Given the description of an element on the screen output the (x, y) to click on. 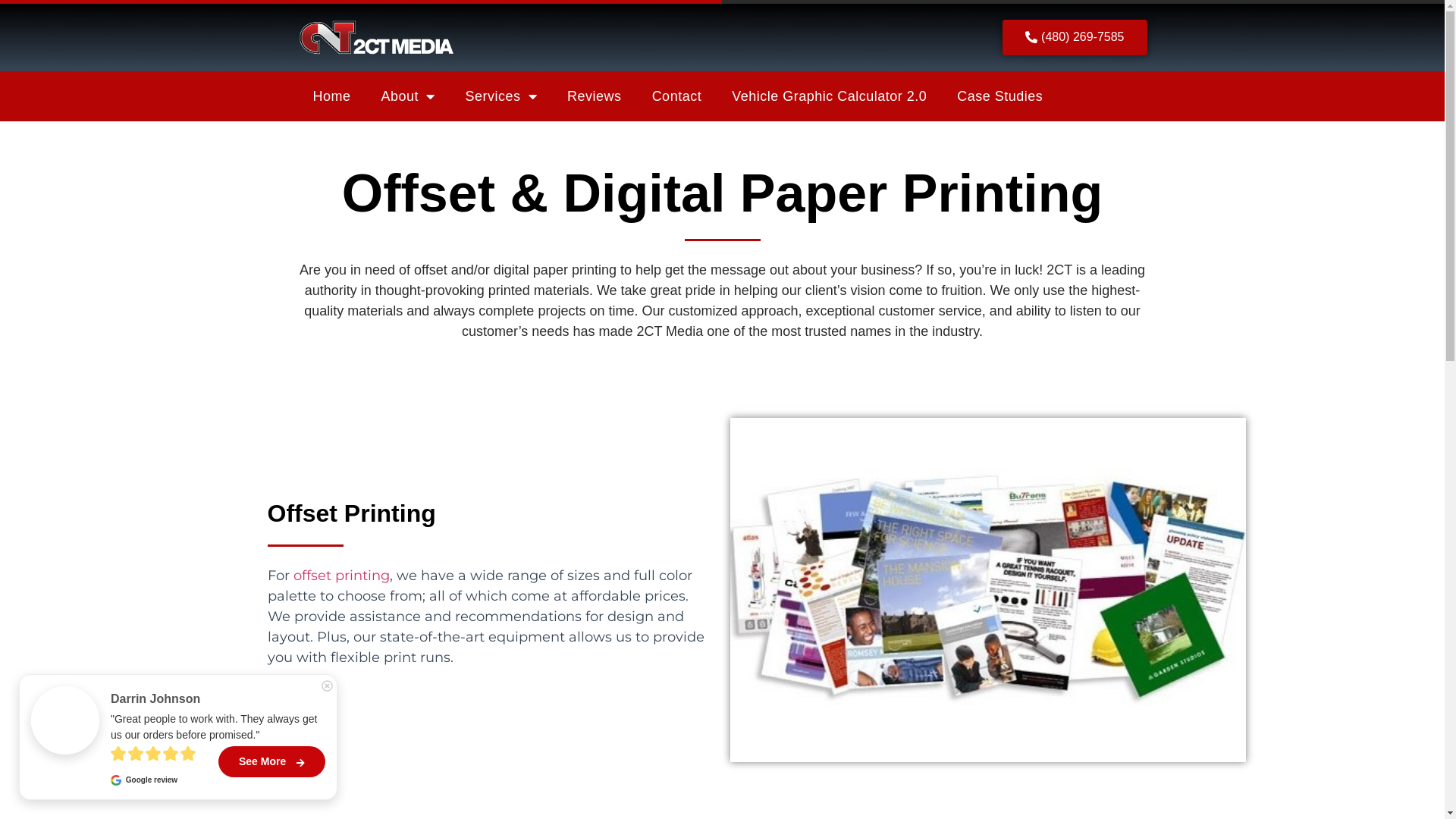
(480) 269-7585 Element type: text (1074, 37)
About Element type: text (408, 95)
Contact Element type: text (677, 95)
Vehicle Graphic Calculator 2.0 Element type: text (828, 95)
Reviews Element type: text (594, 95)
offset printing Element type: text (340, 575)
Home Element type: text (331, 95)
Services Element type: text (501, 95)
Case Studies Element type: text (999, 95)
